Given the description of an element on the screen output the (x, y) to click on. 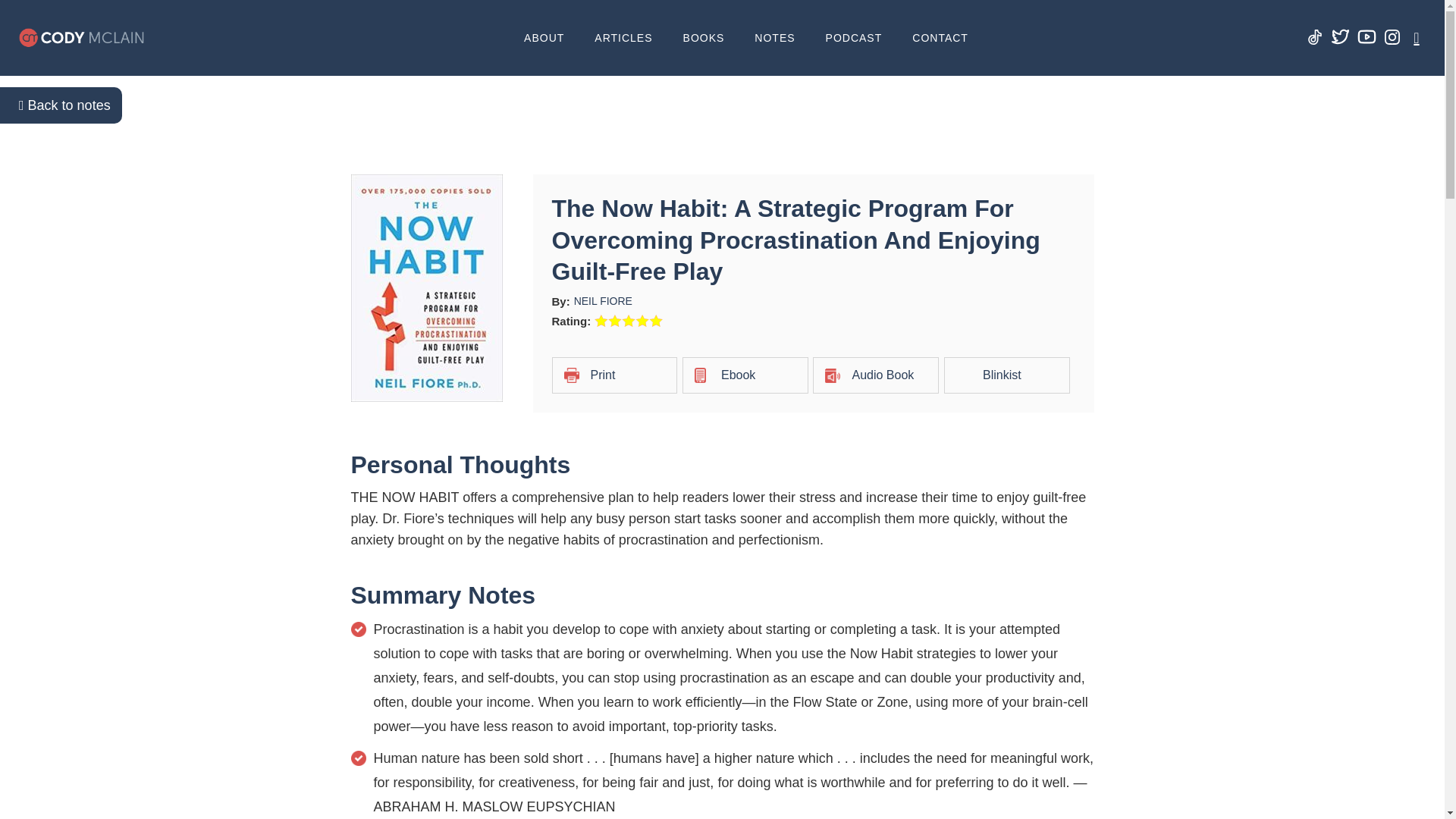
NOTES (774, 38)
ARTICLES (622, 38)
Ebook (745, 375)
Blinkist (1006, 375)
BOOKS (703, 38)
Audio Book (875, 375)
CONTACT (940, 38)
PODCAST (854, 38)
ABOUT (543, 38)
Print (614, 375)
